Given the description of an element on the screen output the (x, y) to click on. 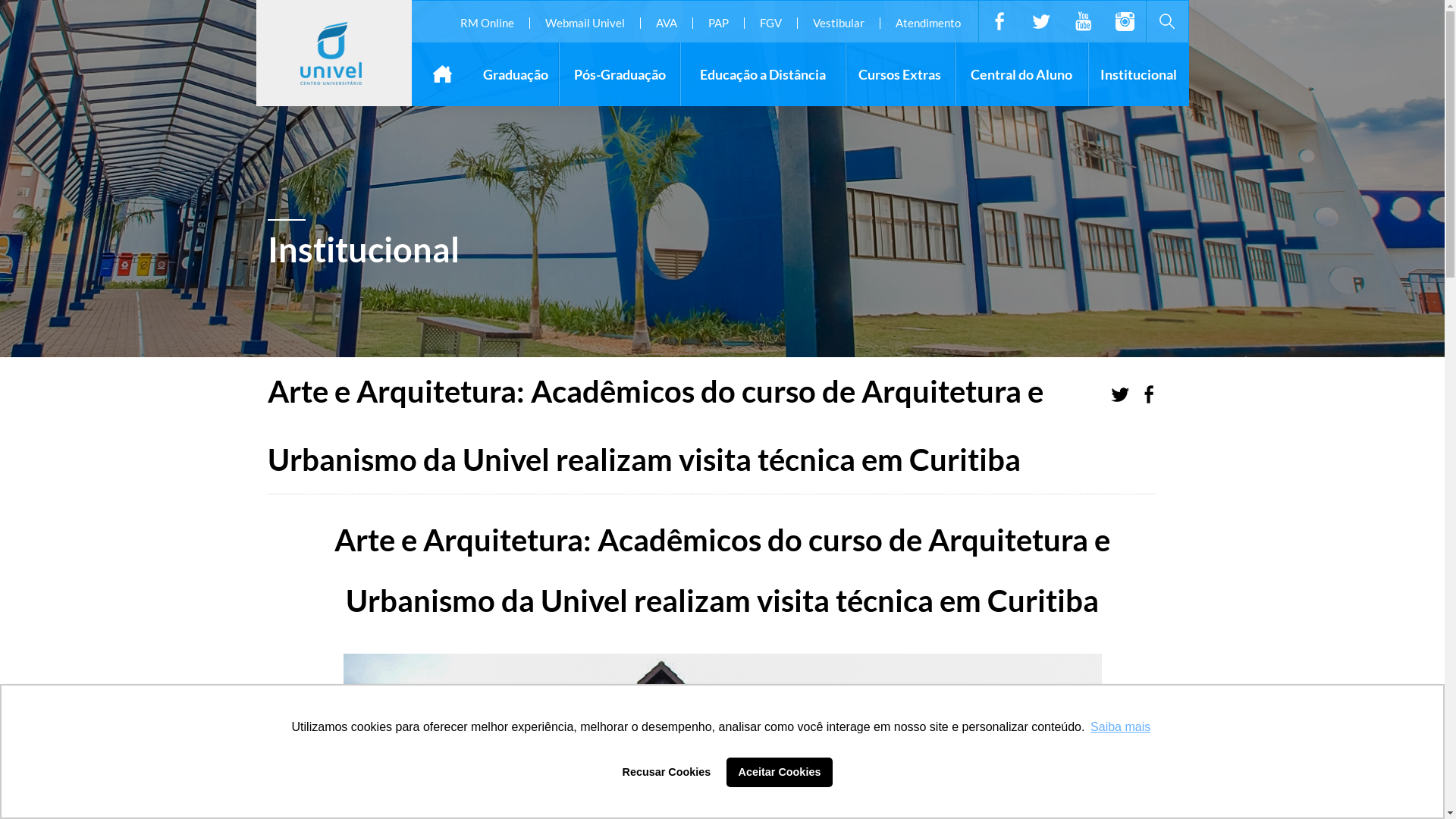
Institucional Element type: text (1138, 74)
Vestibular Element type: text (838, 22)
Recusar Cookies Element type: text (666, 771)
AVA Element type: text (666, 22)
Atendimento Element type: text (927, 22)
facebook Element type: text (1148, 394)
FGV Element type: text (770, 22)
Home Element type: text (441, 73)
youtube Element type: text (1083, 21)
twitter Element type: text (1041, 21)
twitter Element type: text (1119, 394)
facebook Element type: text (999, 21)
Buscar Element type: text (1149, 77)
Aceitar Cookies Element type: text (779, 771)
Saiba mais Element type: text (1120, 726)
Webmail Univel Element type: text (584, 22)
RM Online Element type: text (487, 22)
Cursos Extras Element type: text (899, 74)
Central do Aluno Element type: text (1021, 74)
instagram Element type: text (1124, 21)
PAP Element type: text (717, 22)
